Given the description of an element on the screen output the (x, y) to click on. 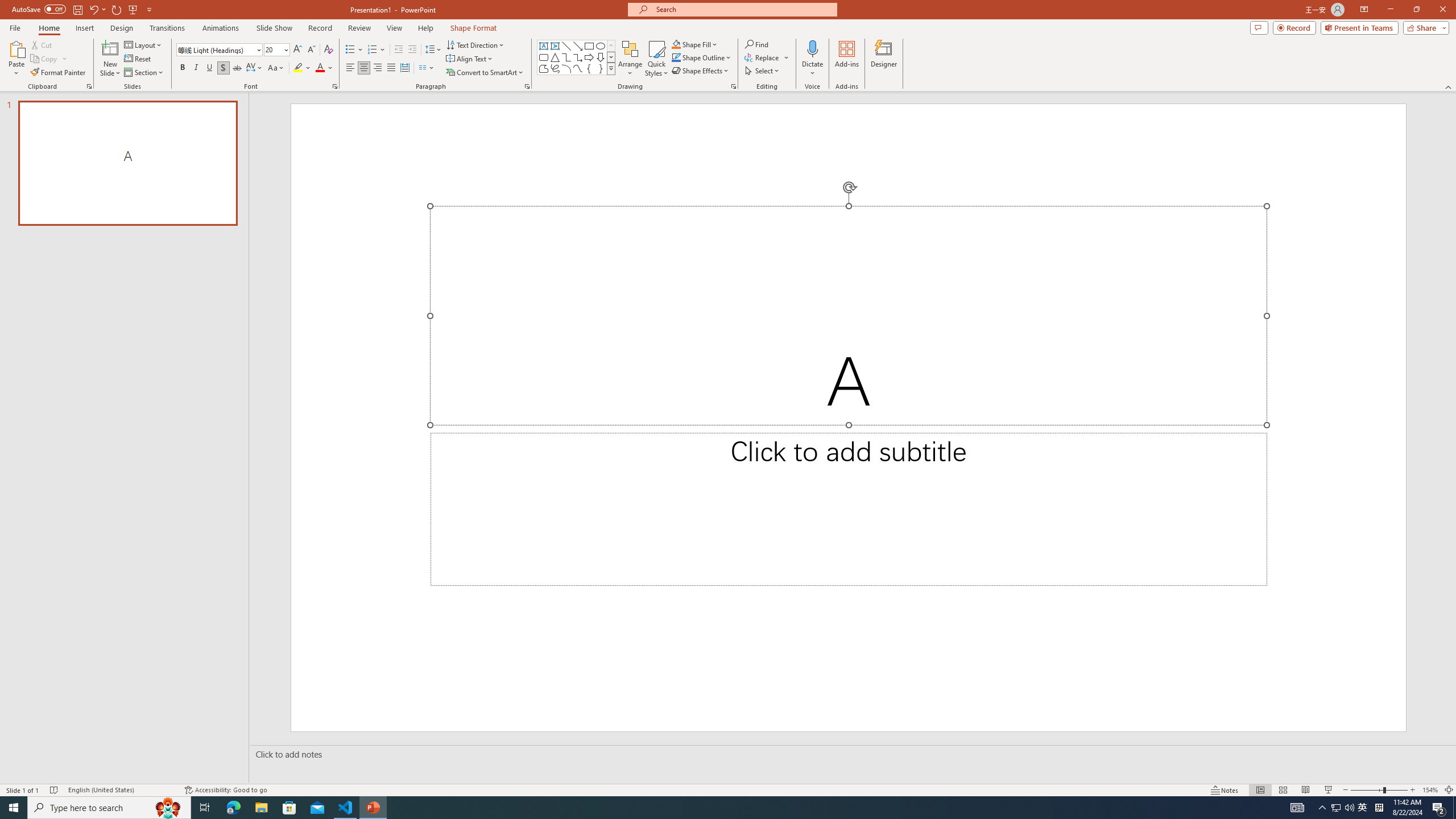
Zoom 154% (1430, 790)
